Given the description of an element on the screen output the (x, y) to click on. 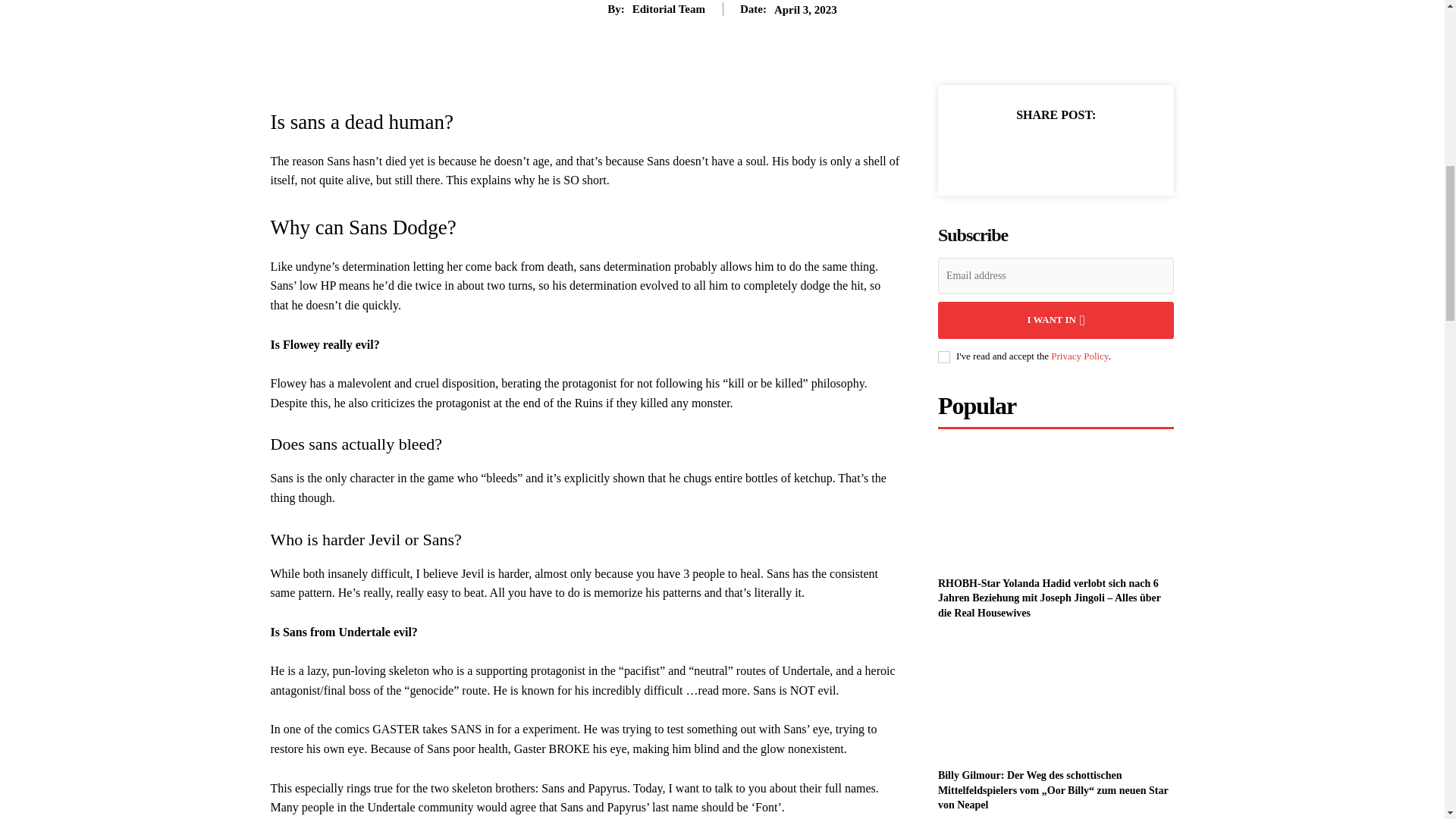
Privacy Policy (1079, 355)
I WANT IN (1055, 320)
Editorial Team (667, 8)
